Given the description of an element on the screen output the (x, y) to click on. 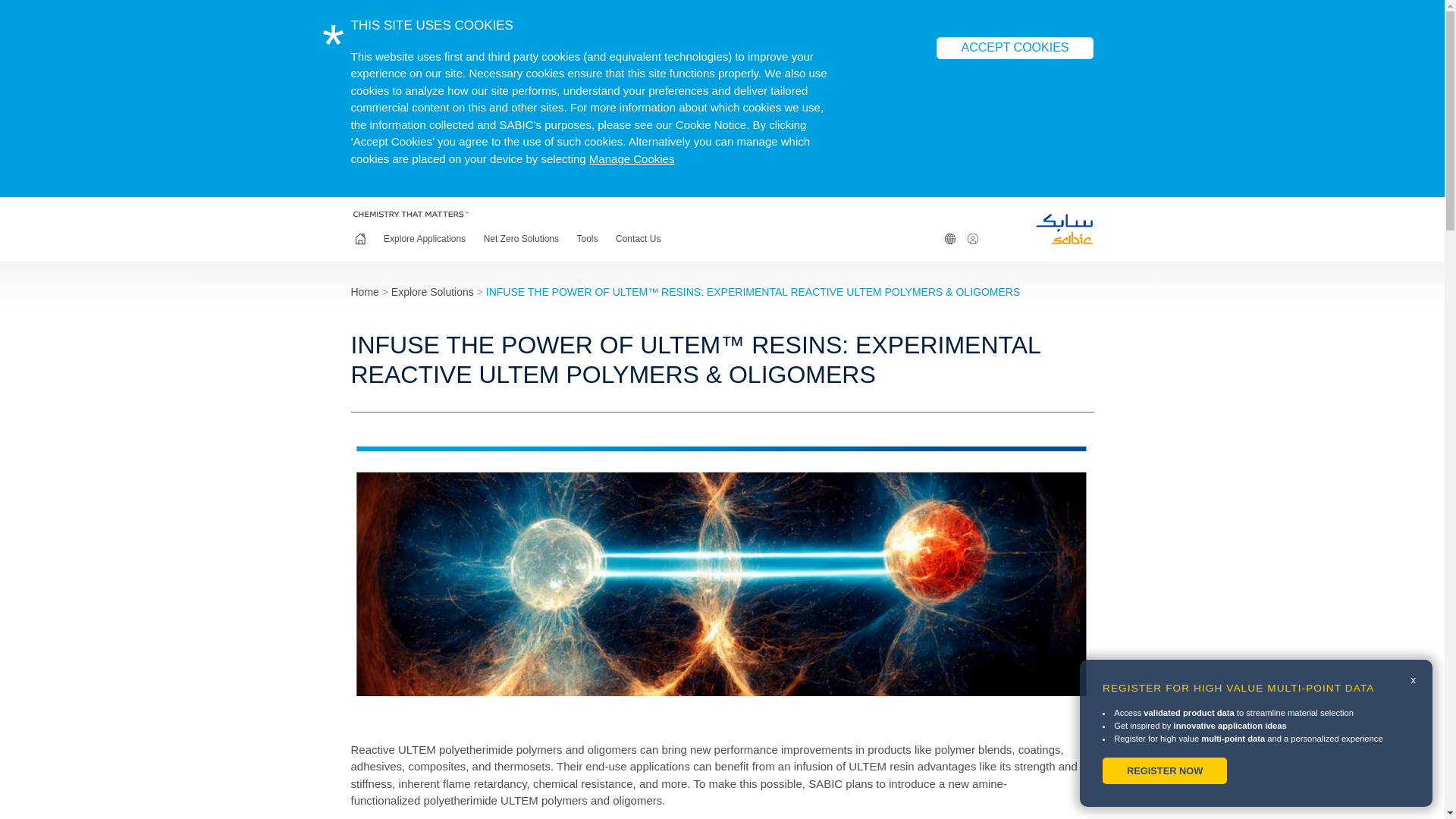
Explore Applications (424, 239)
Explore Solutions (432, 291)
ACCEPT COOKIES (1015, 47)
User (972, 239)
Home (364, 291)
Tools (588, 239)
REGISTER NOW (1164, 770)
Net Zero Solutions (521, 239)
Contact Us (637, 239)
Manage Cookies (632, 158)
Home (360, 239)
Change Region (949, 239)
